Given the description of an element on the screen output the (x, y) to click on. 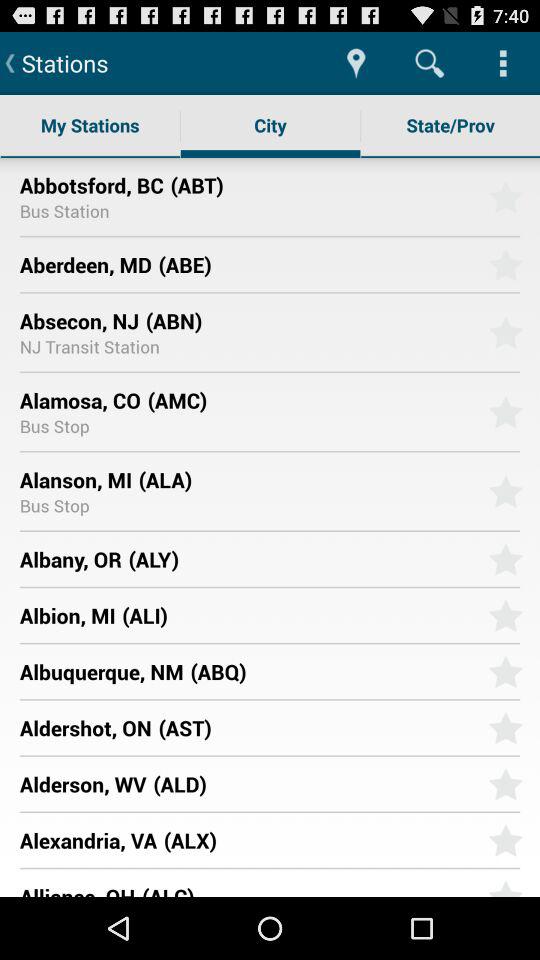
select the item below absecon, nj (89, 346)
